Given the description of an element on the screen output the (x, y) to click on. 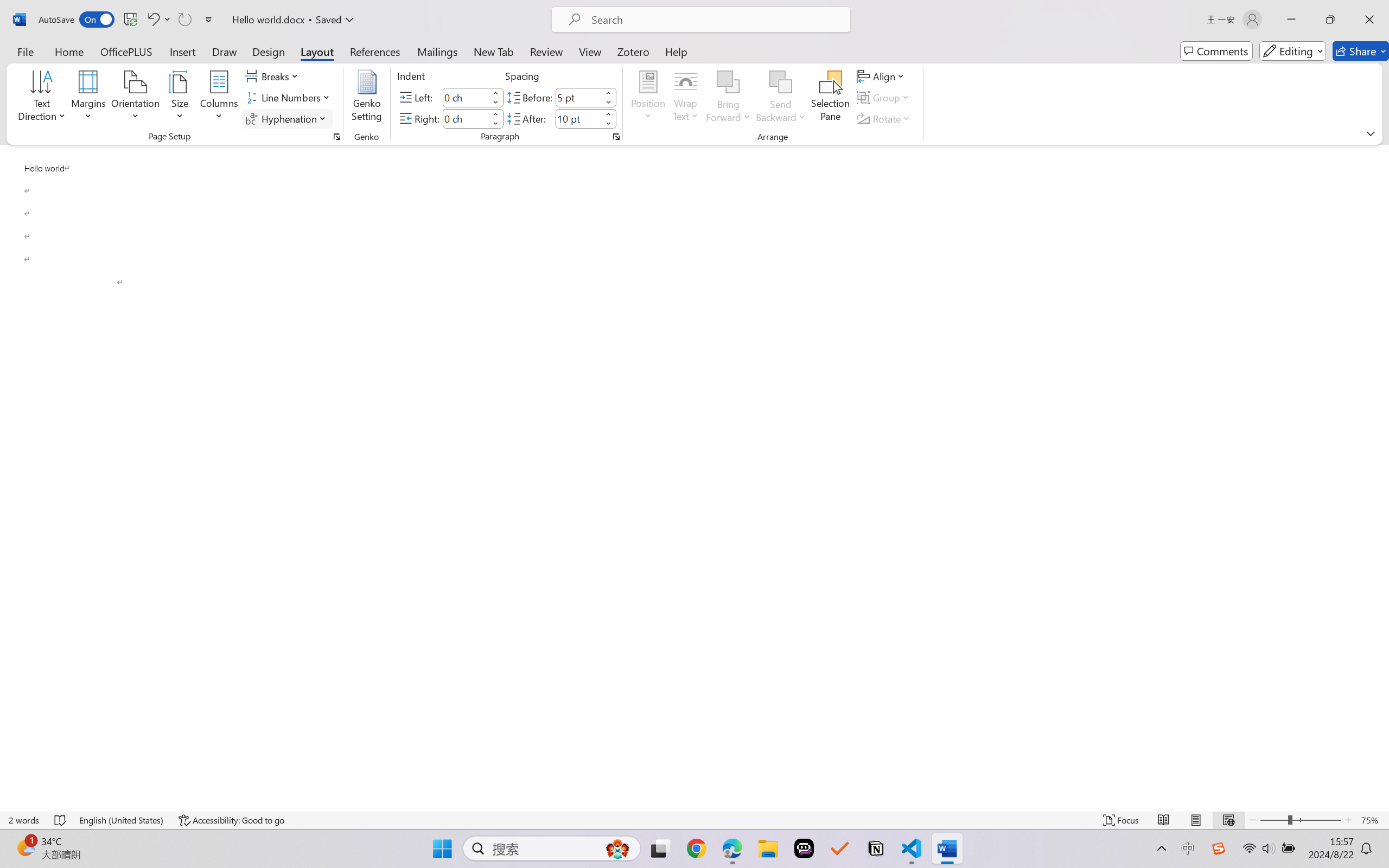
Zoom 75% (1372, 819)
Word Count 2 words (23, 819)
AutomationID: BadgeAnchorLargeTicker (24, 847)
Mailings (437, 51)
New Tab (493, 51)
Line Numbers (289, 97)
Size (180, 97)
Margins (88, 97)
Hyphenation (287, 118)
Zoom In (1348, 819)
Close (1369, 19)
OfficePLUS (126, 51)
View (589, 51)
